Given the description of an element on the screen output the (x, y) to click on. 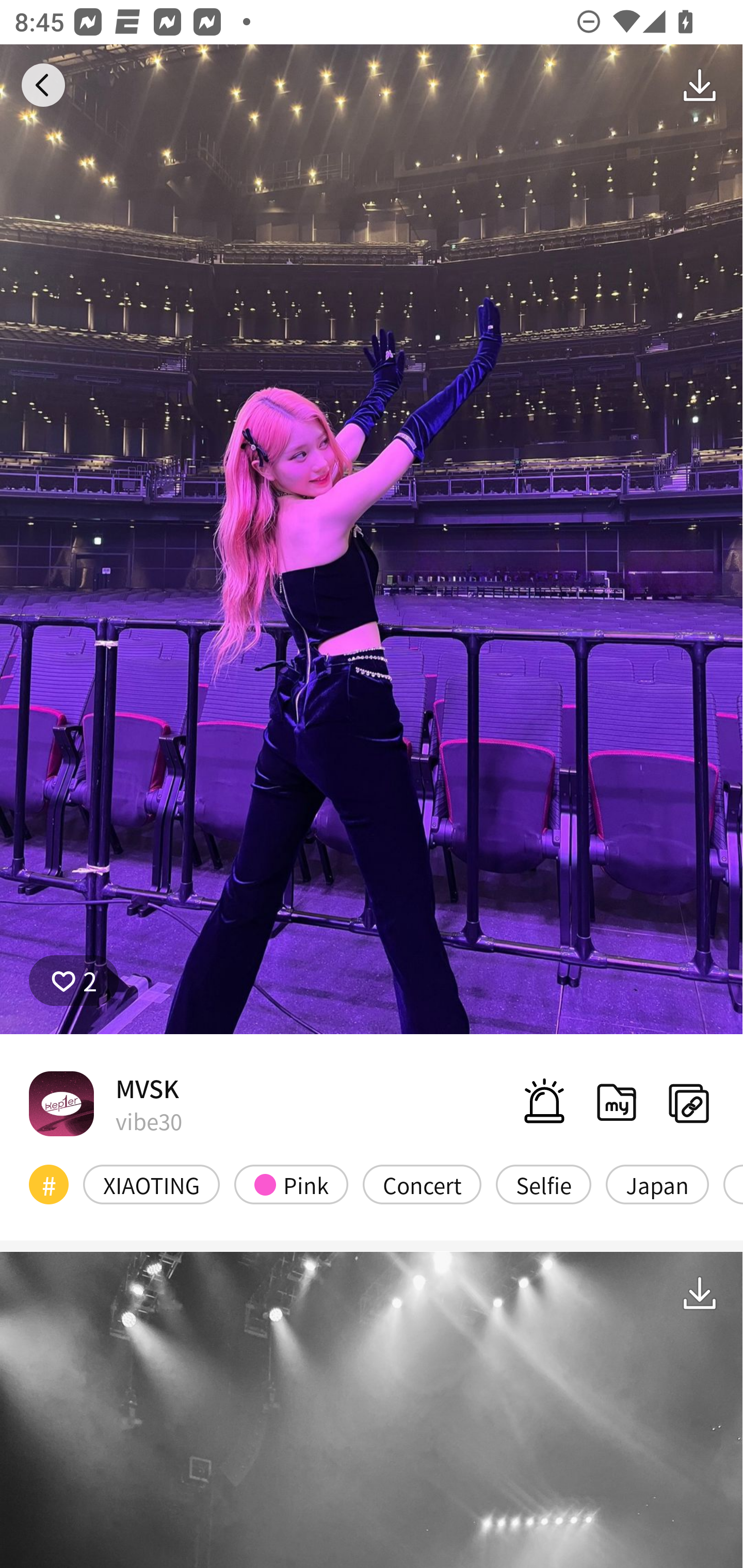
2 (73, 980)
MVSK vibe30 (105, 1102)
XIAOTING (151, 1184)
Pink (291, 1184)
Concert (421, 1184)
Selfie (543, 1184)
Japan (656, 1184)
